Given the description of an element on the screen output the (x, y) to click on. 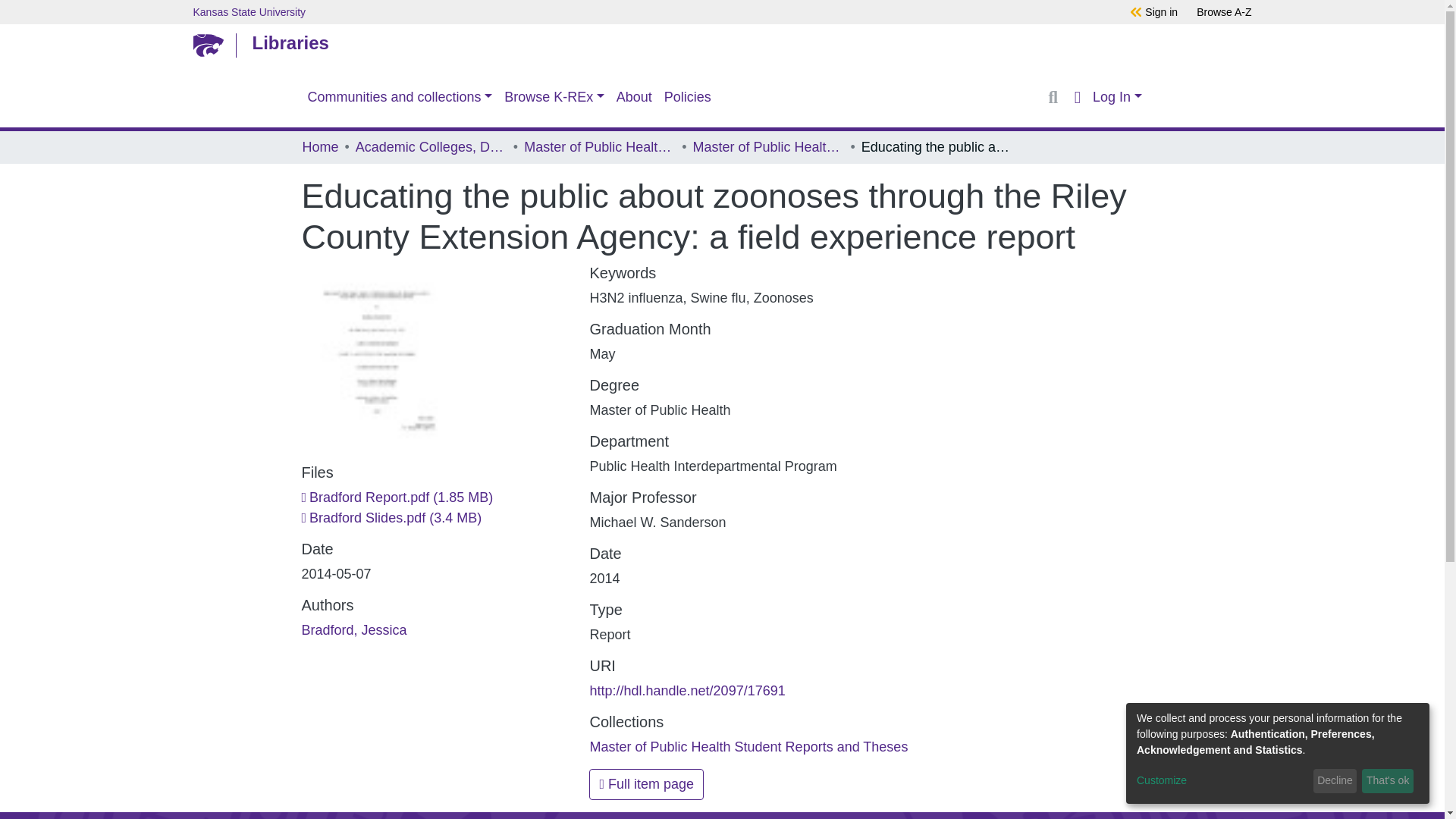
Kansas State University (625, 11)
Bradford, Jessica (354, 630)
About (634, 97)
Search (1053, 96)
Libraries (718, 43)
About (634, 97)
Home (319, 147)
Browse A-Z (1223, 11)
Academic Colleges, Departments, and Programs (430, 147)
Policies (687, 97)
Policies (687, 97)
Communities and collections (400, 97)
Master of Public Health Program (599, 147)
Sign in (1160, 11)
Master of Public Health Student Reports and Theses (748, 746)
